Given the description of an element on the screen output the (x, y) to click on. 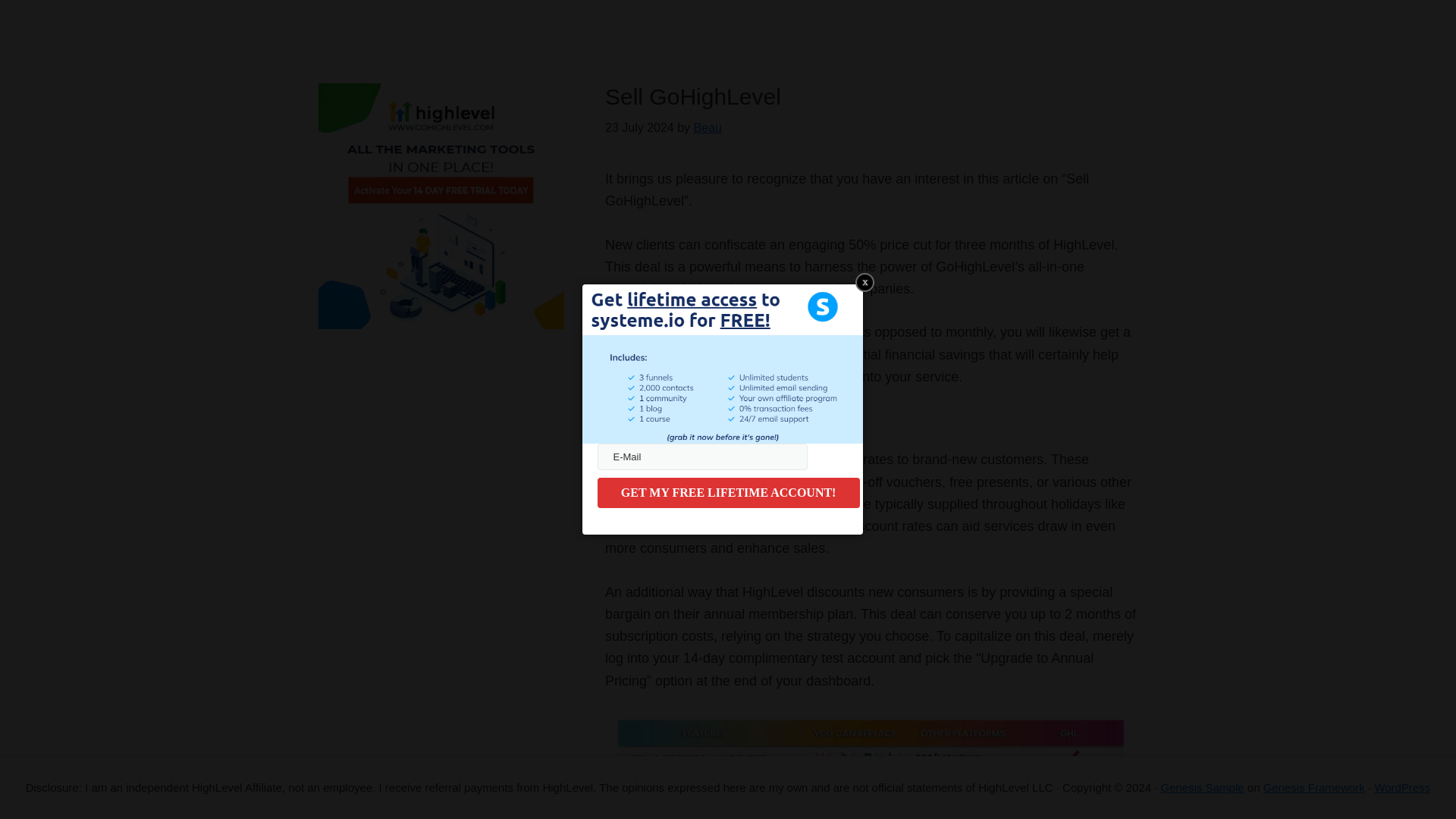
Genesis Sample (1202, 787)
WordPress (1401, 787)
Beau (708, 127)
GET MY FREE LIFETIME ACCOUNT! (728, 492)
Genesis Framework (1314, 787)
GET MY FREE LIFETIME ACCOUNT! (728, 492)
